Given the description of an element on the screen output the (x, y) to click on. 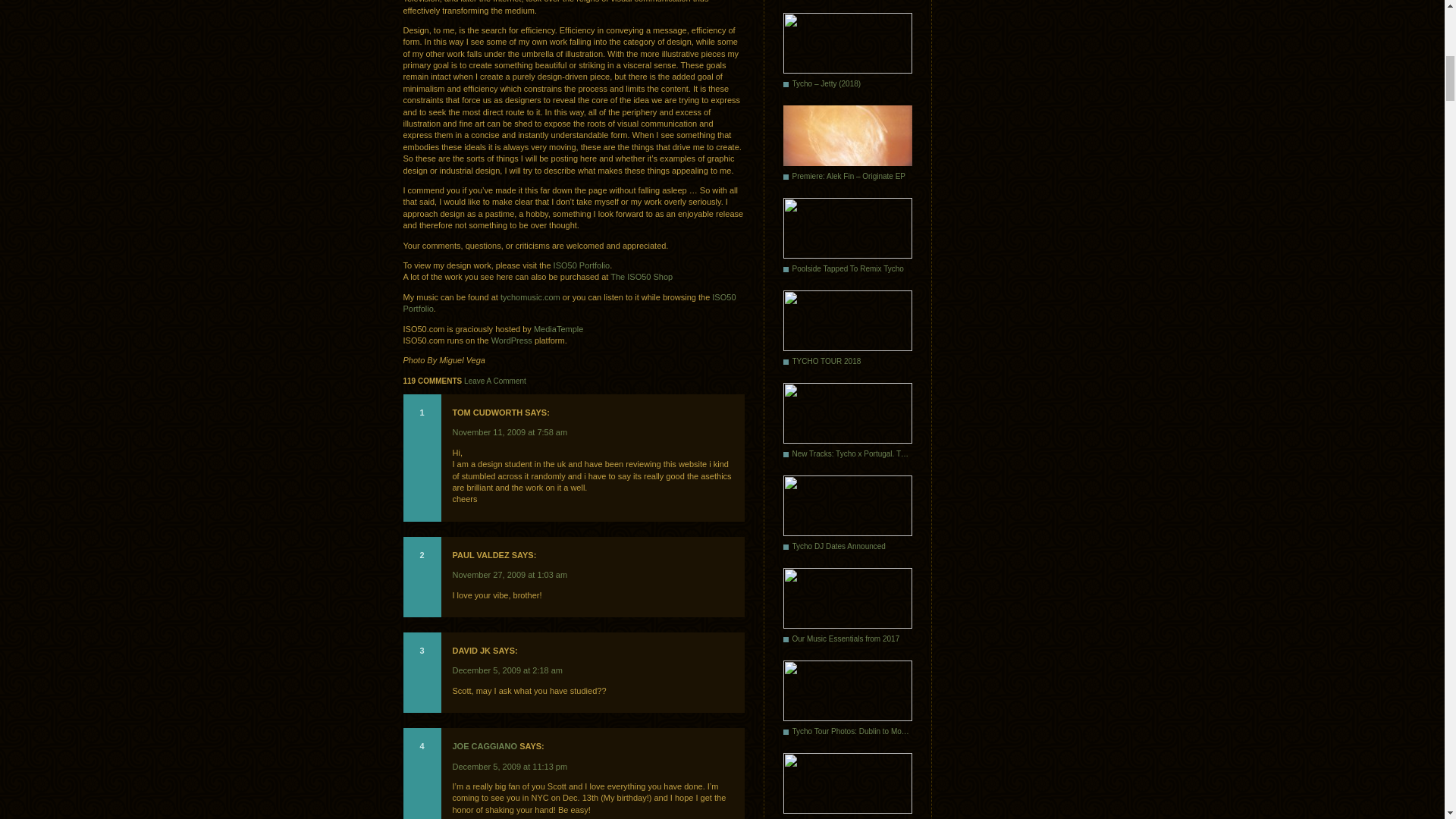
tychomusic.com (530, 297)
WordPress (512, 339)
Visit Tychomusic  (530, 297)
MediaTemple (558, 328)
View the ISO50 Portfolio (569, 302)
ISO50 Portfolio (569, 302)
View the ISO50 Portfolio (581, 265)
November 11, 2009 at 7:58 am (509, 431)
December 5, 2009 at 11:13 pm (509, 766)
ISO50 Portfolio (581, 265)
